Given the description of an element on the screen output the (x, y) to click on. 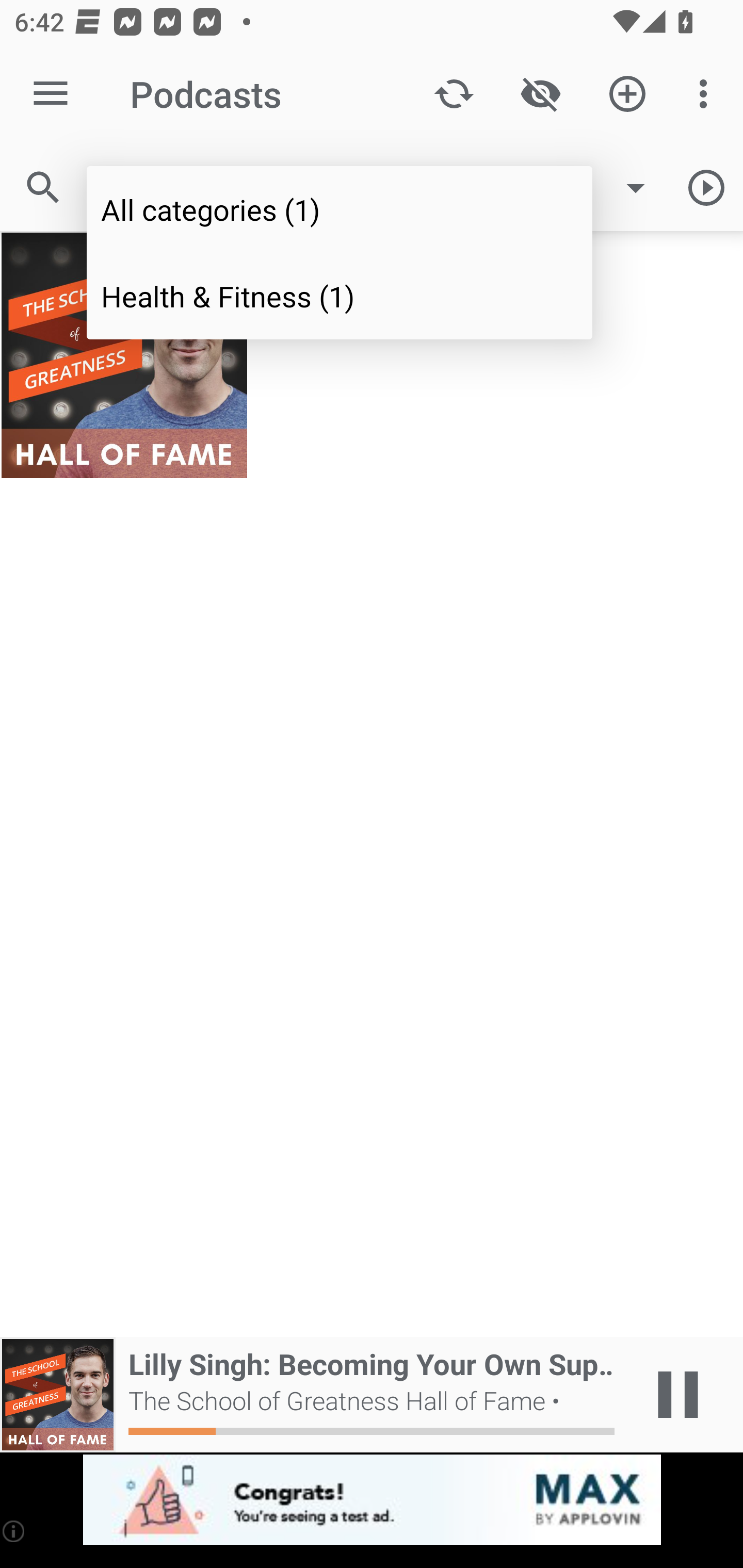
All categories (1) (339, 209)
Health & Fitness (1) (339, 295)
